Given the description of an element on the screen output the (x, y) to click on. 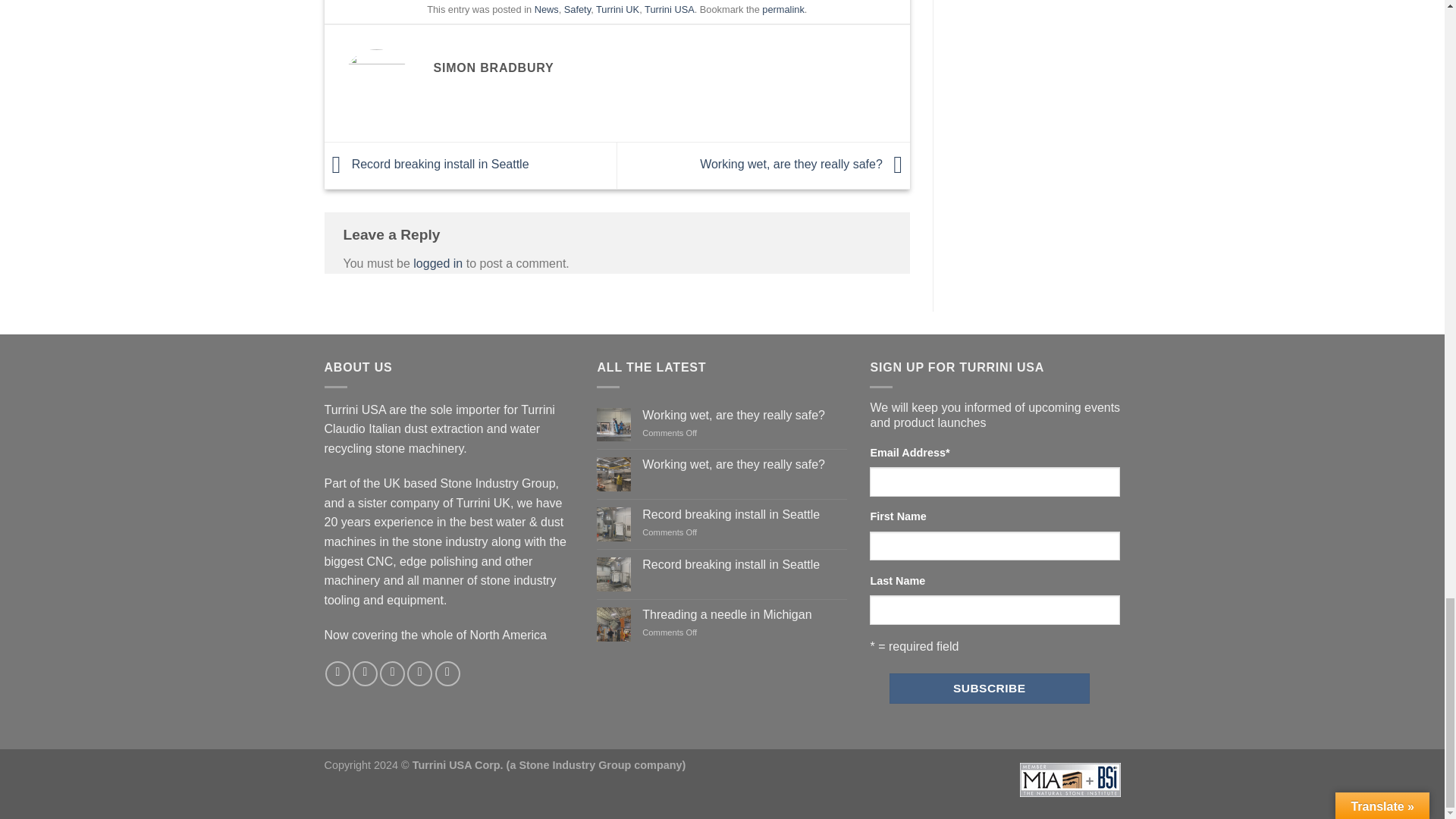
News (546, 9)
Safety (577, 9)
Turrini UK (617, 9)
Subscribe (989, 687)
